Given the description of an element on the screen output the (x, y) to click on. 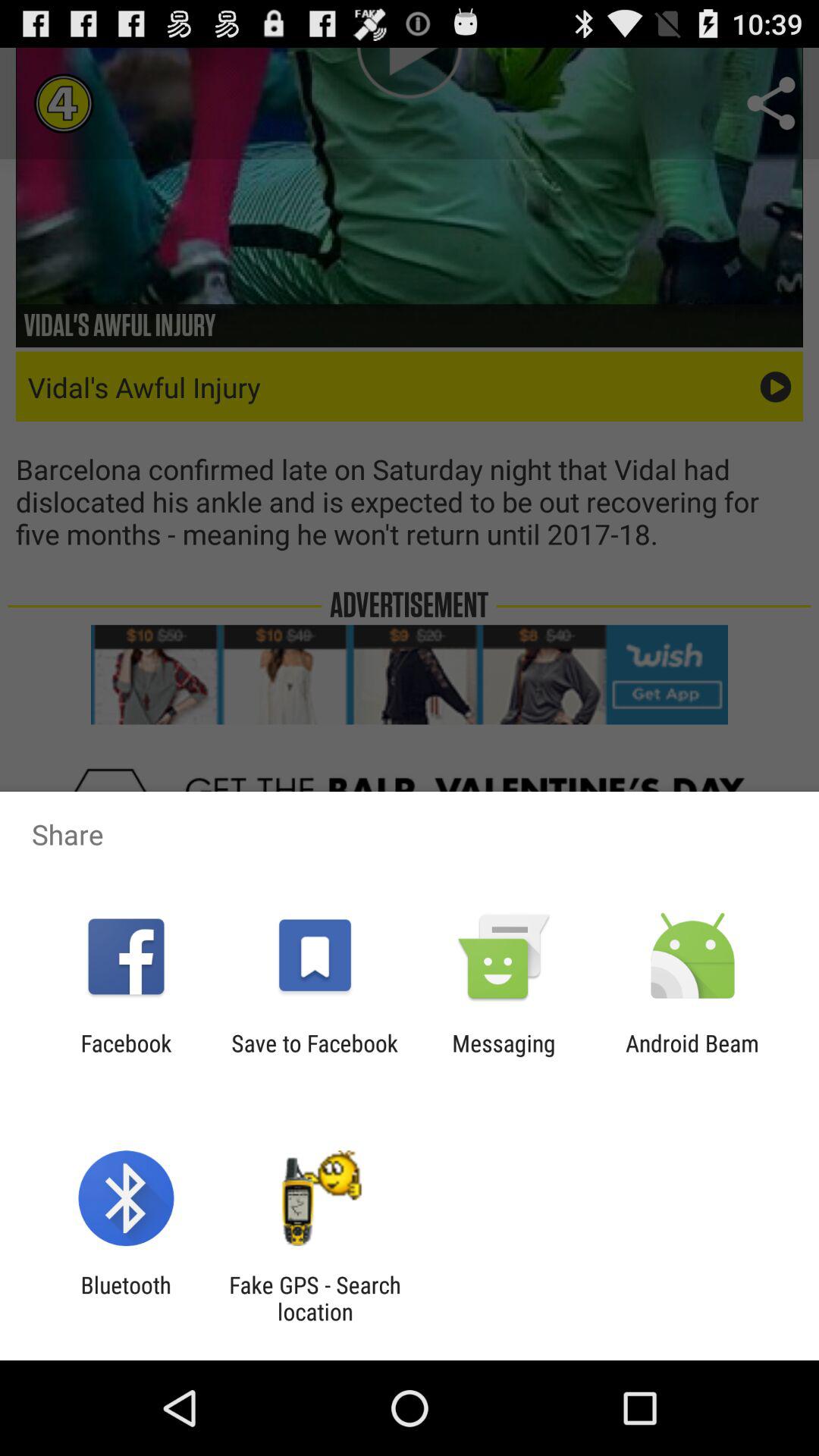
jump to save to facebook item (314, 1056)
